Given the description of an element on the screen output the (x, y) to click on. 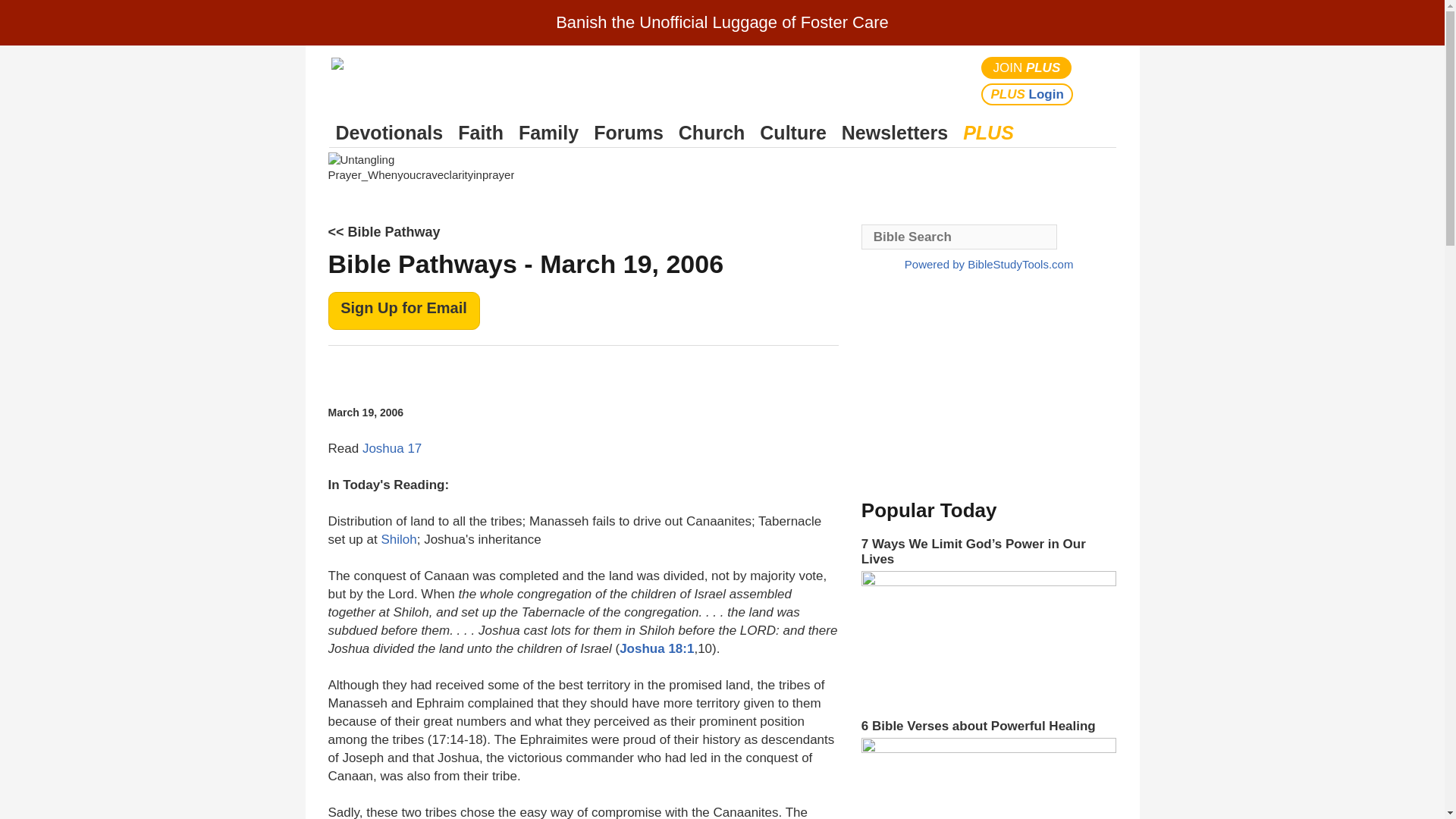
JOIN PLUS (1026, 67)
Devotionals (389, 132)
PLUS Login (1026, 94)
Join Plus (1026, 67)
Plus Login (1026, 94)
Faith (481, 132)
Search (1101, 80)
